Given the description of an element on the screen output the (x, y) to click on. 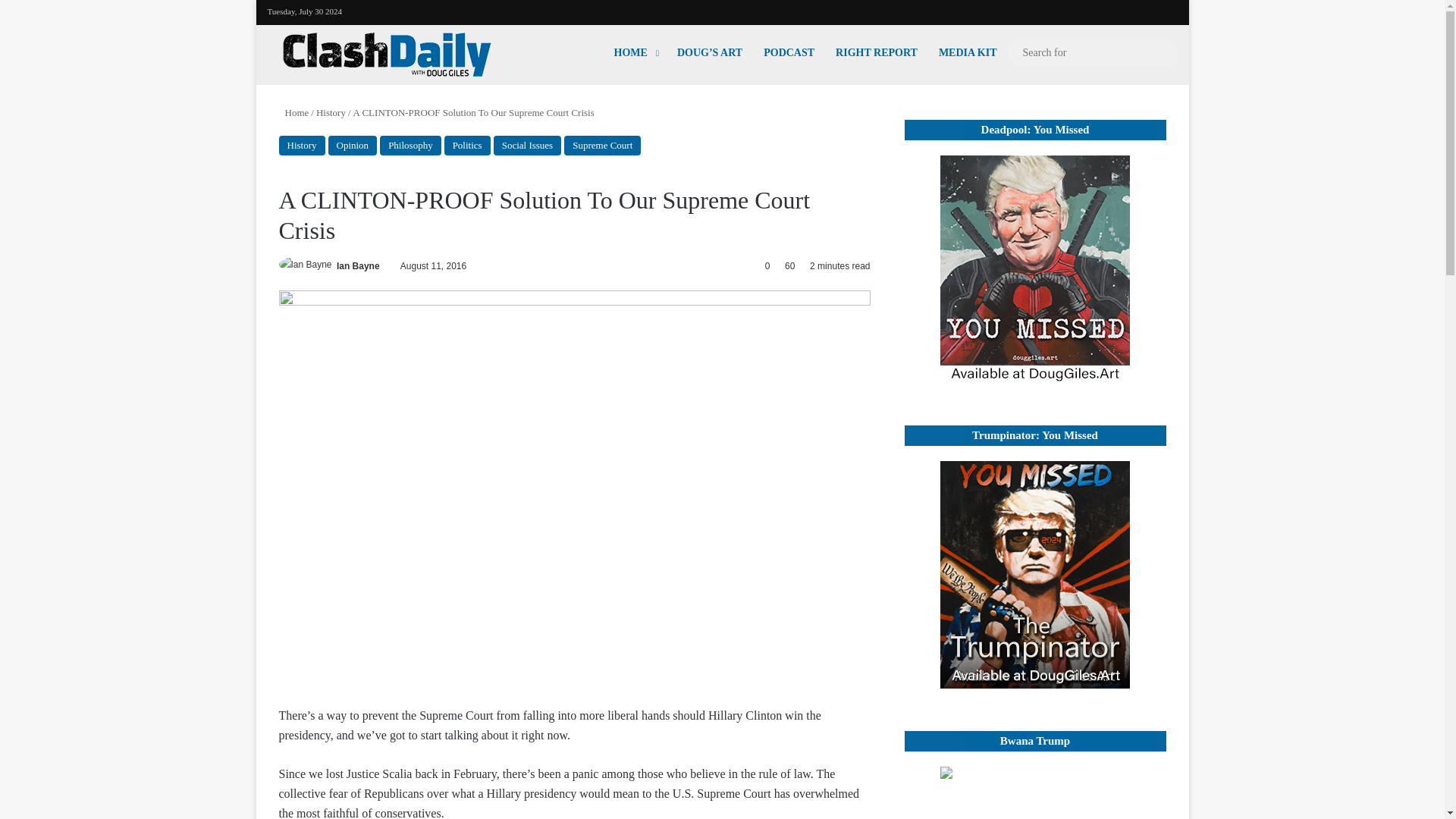
Social Issues (527, 145)
RIGHT REPORT (876, 52)
Parler (1165, 9)
History (330, 112)
Ian Bayne (358, 266)
Search for (1161, 52)
Search for (1091, 52)
Philosophy (410, 145)
Politics (467, 145)
MeWe (1143, 9)
Instagram (1120, 9)
PODCAST (788, 52)
Facebook (1075, 9)
YouTube (1097, 9)
Opinion (352, 145)
